Given the description of an element on the screen output the (x, y) to click on. 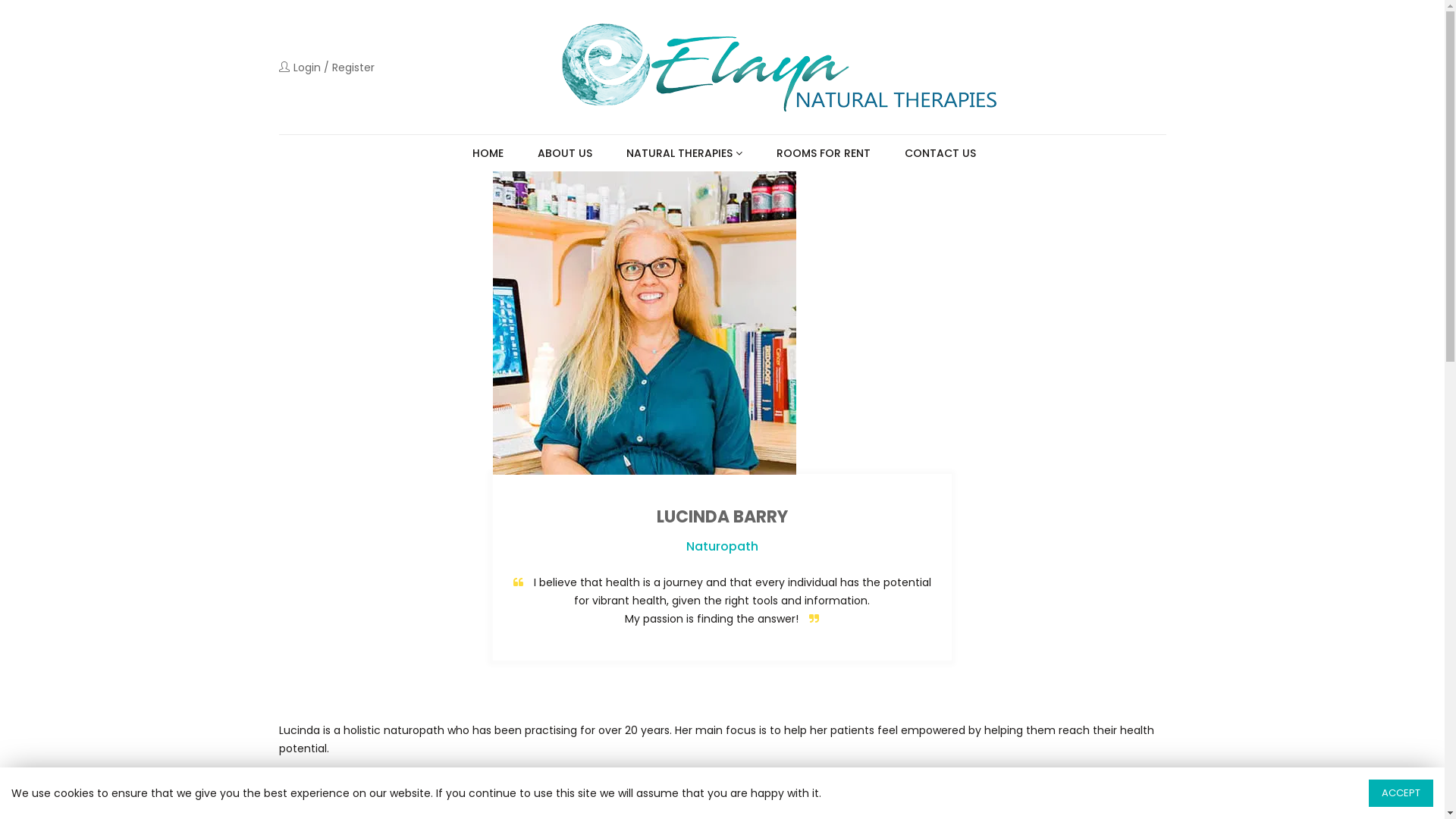
Elaya Natural Therapies Element type: hover (777, 66)
ROOMS FOR RENT Element type: text (821, 152)
Login / Register Element type: text (326, 66)
ACCEPT Element type: text (1400, 792)
ABOUT US Element type: text (562, 152)
HOME Element type: text (486, 152)
NATURAL THERAPIES Element type: text (682, 152)
LUCINDA BARRY Element type: text (721, 516)
CONTACT US Element type: text (938, 152)
